Given the description of an element on the screen output the (x, y) to click on. 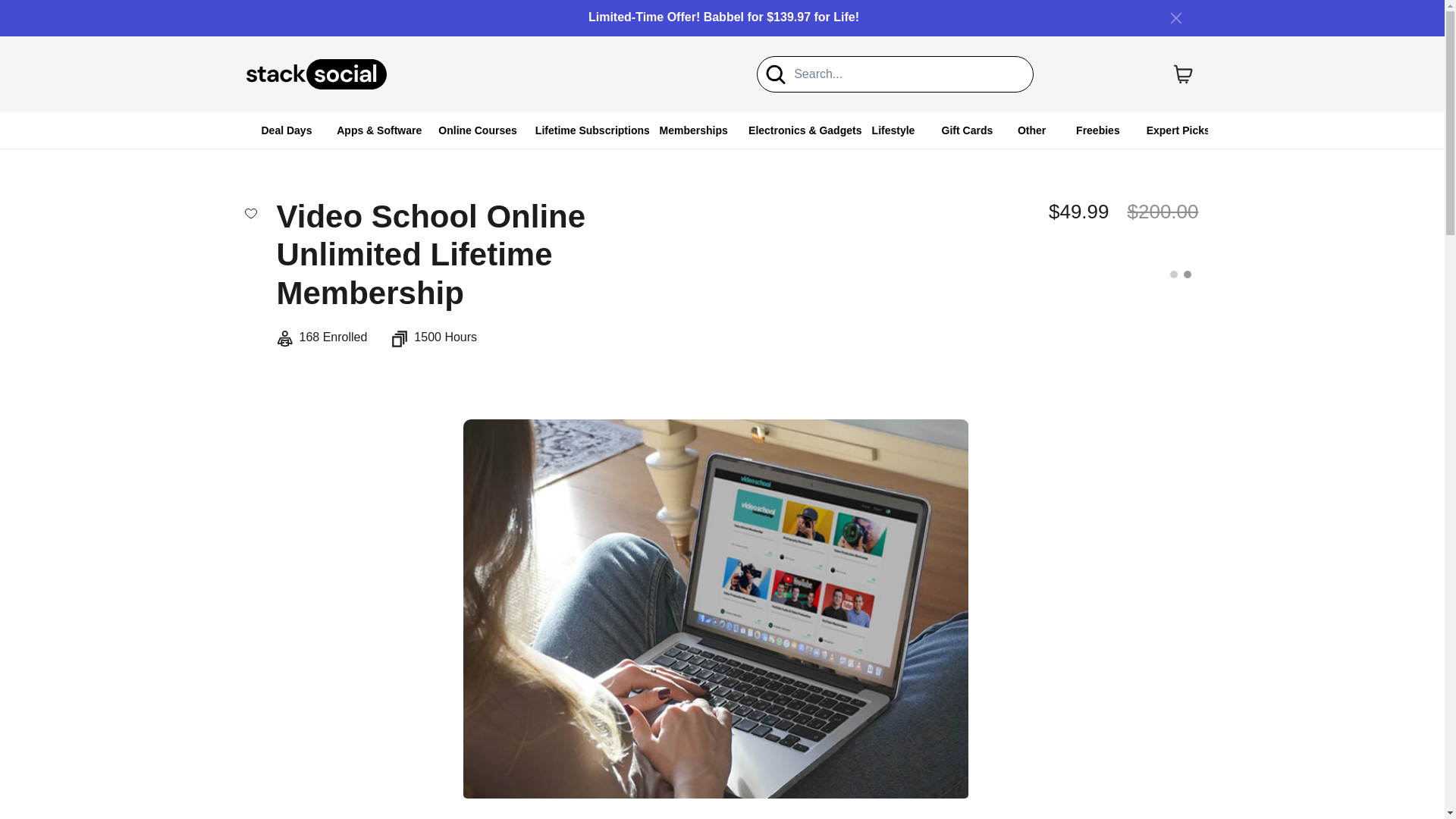
Add to wishlist (250, 212)
